Given the description of an element on the screen output the (x, y) to click on. 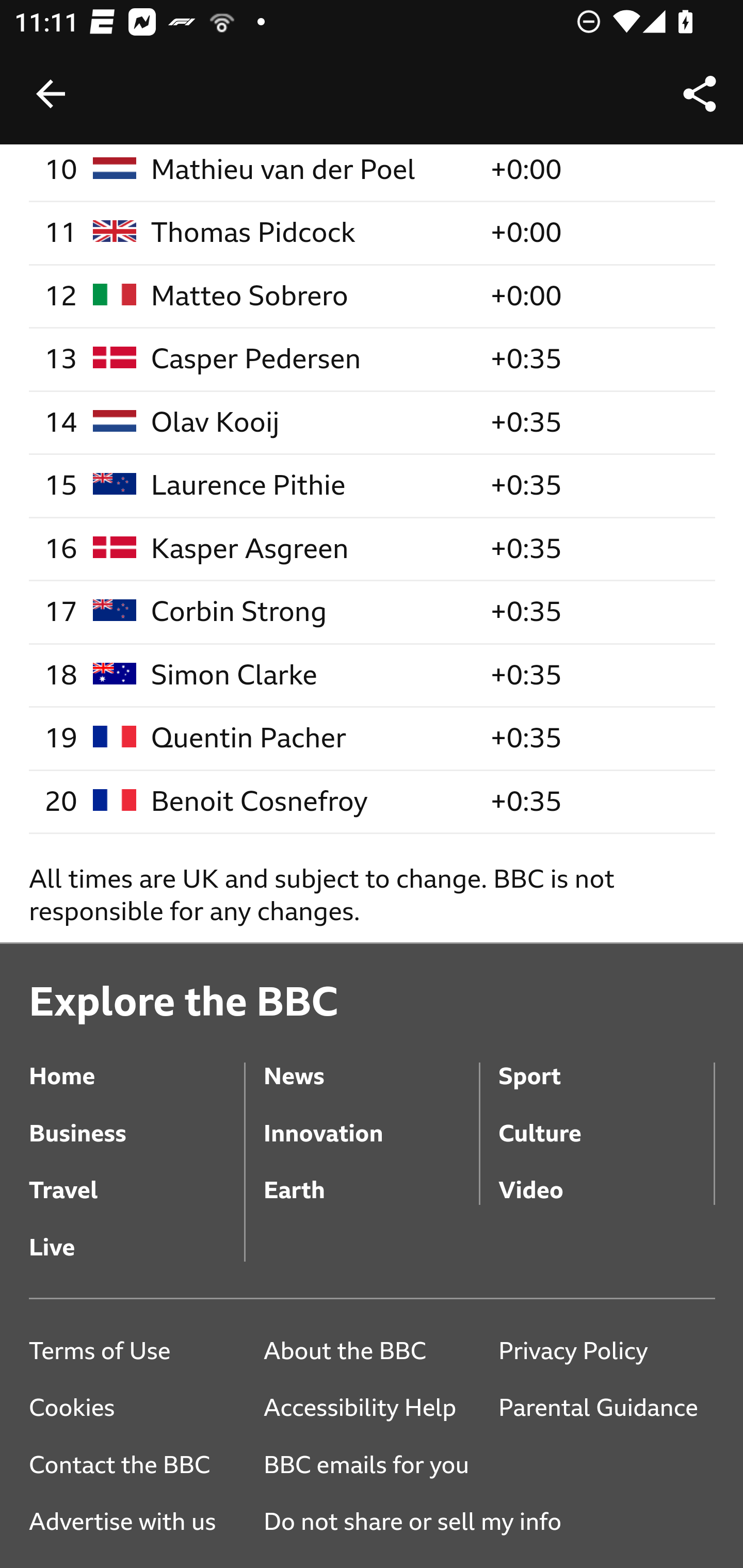
Back (50, 93)
Share (699, 93)
Home (136, 1062)
News (370, 1062)
Sport (606, 1062)
Business (136, 1118)
Innovation (370, 1118)
Culture (606, 1118)
Travel (136, 1175)
Earth (370, 1175)
Video (606, 1175)
Live (136, 1233)
Terms of Use (136, 1350)
About the BBC (370, 1350)
Privacy Policy (606, 1350)
Cookies (136, 1407)
Accessibility Help (370, 1407)
Parental Guidance (606, 1407)
Contact the BBC (136, 1464)
BBC emails for you (372, 1464)
Advertise with us (136, 1522)
Do not share or sell my info (419, 1522)
